Given the description of an element on the screen output the (x, y) to click on. 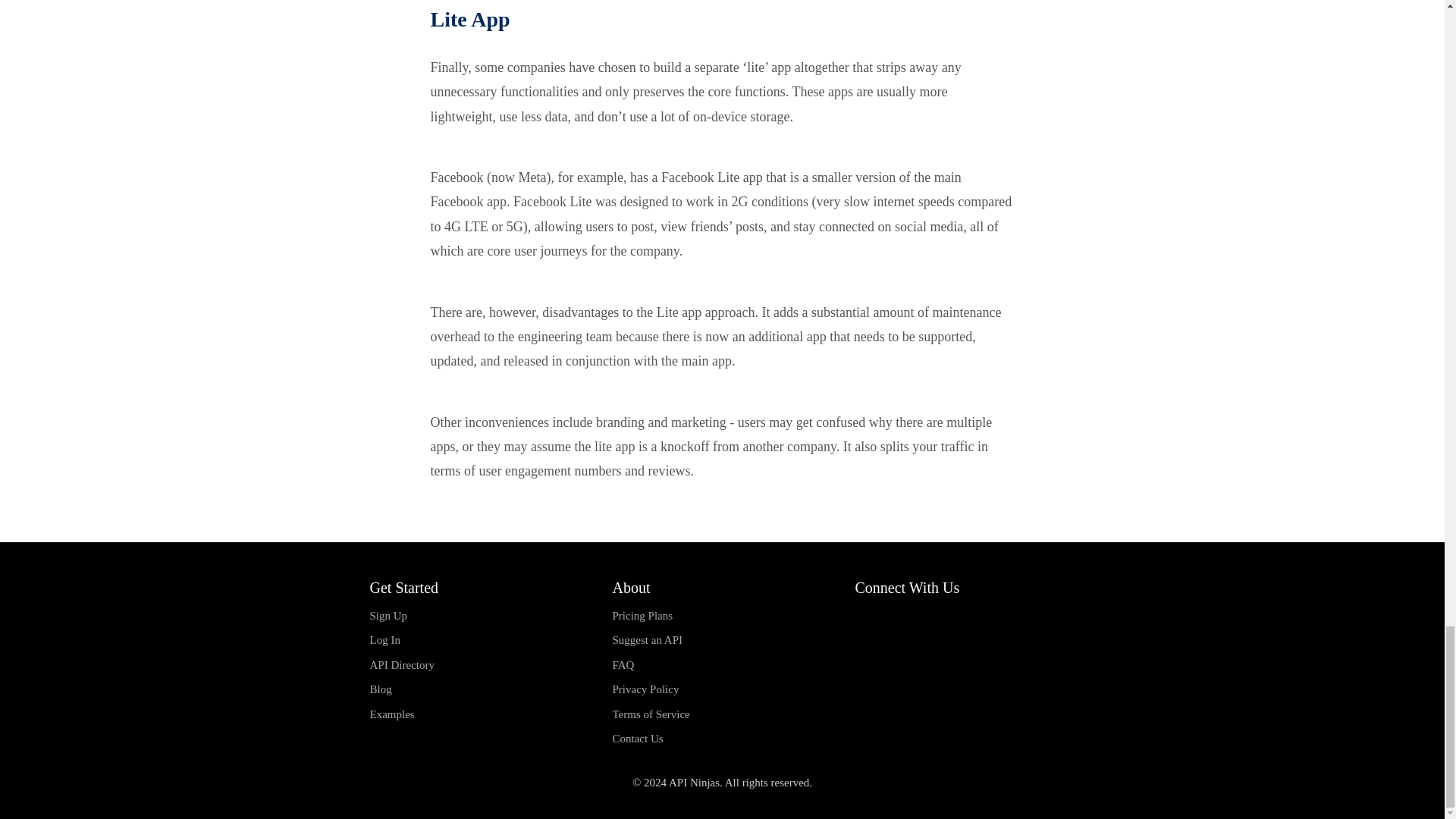
Log In (479, 640)
Terms of Service (721, 714)
Suggest an API (721, 640)
API Directory (479, 665)
Pricing Plans (721, 615)
FAQ (721, 665)
Privacy Policy (721, 689)
Contact Us (721, 738)
Sign Up (479, 615)
Blog (479, 689)
Examples (479, 714)
